Given the description of an element on the screen output the (x, y) to click on. 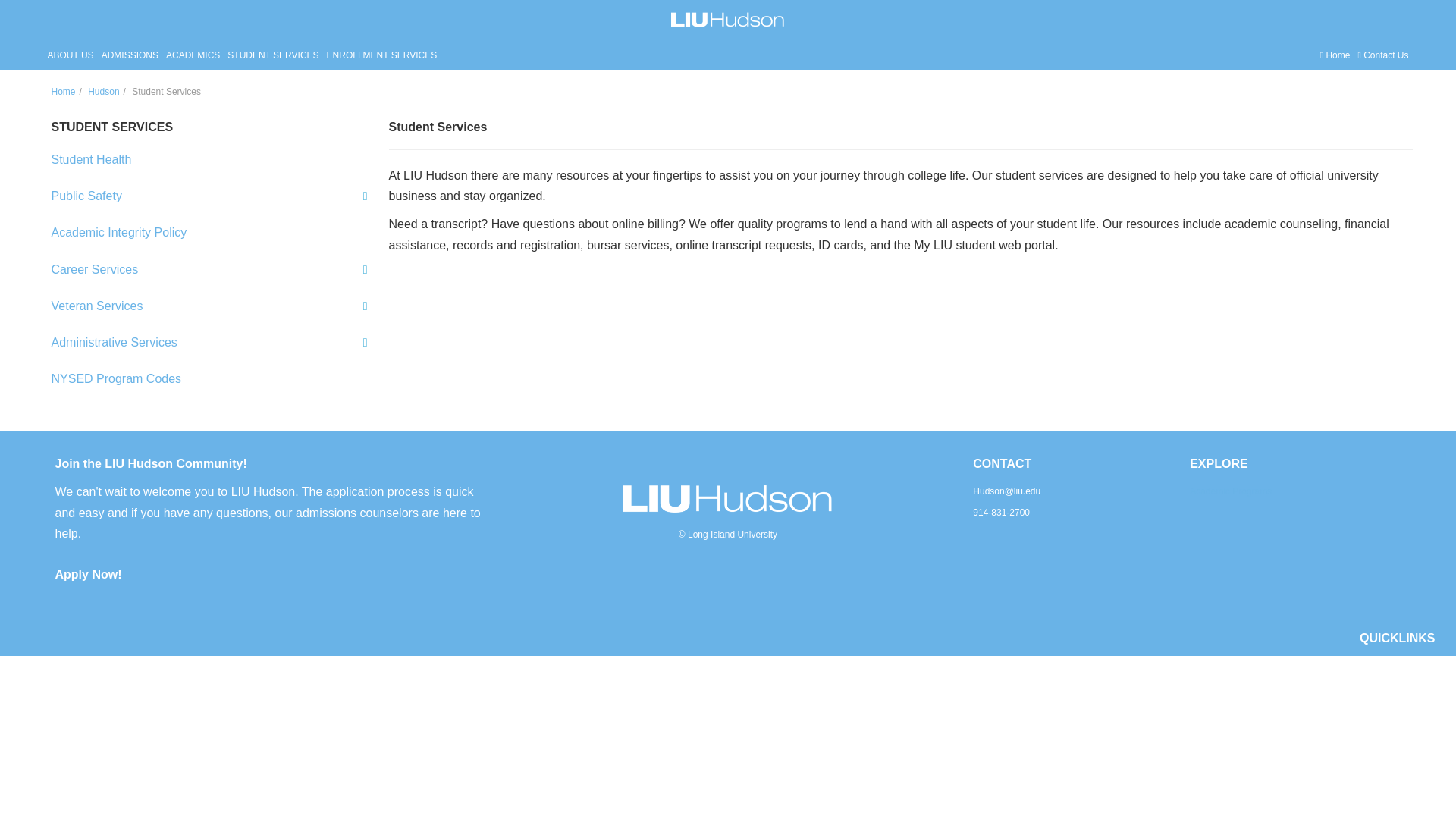
ABOUT US (69, 54)
Hudson (103, 91)
NYSED Program Codes (210, 378)
Home (1335, 54)
Apply Now! (87, 574)
Academic Programs (1230, 491)
ACADEMICS (192, 54)
STUDENT SERVICES (272, 54)
Veteran Services (210, 305)
Academic Integrity Policy (210, 232)
Student Health (210, 159)
Contact Us (1381, 54)
ENROLLMENT SERVICES (382, 54)
STUDENT SERVICES (111, 126)
Public Safety (210, 195)
